Given the description of an element on the screen output the (x, y) to click on. 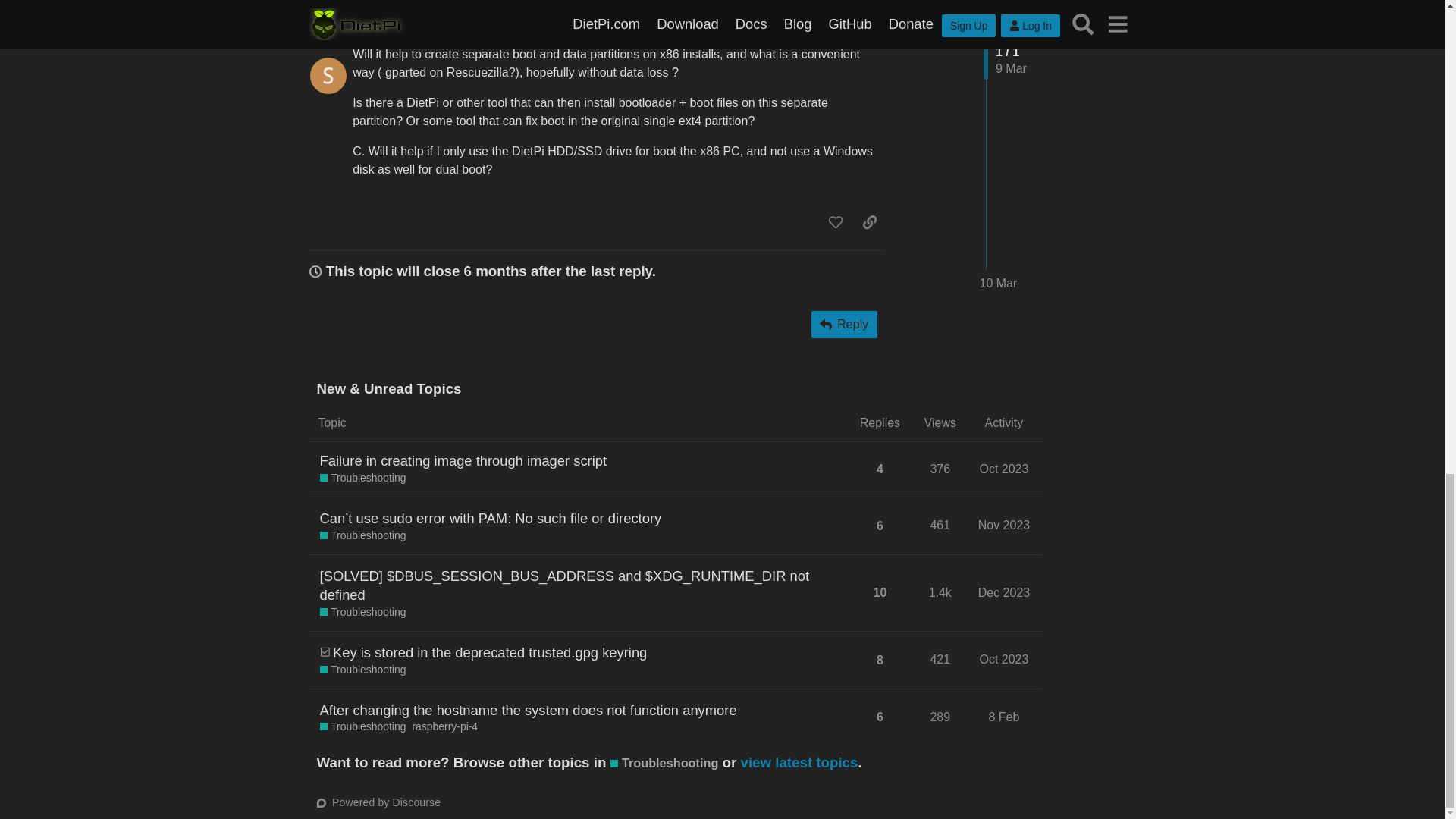
Oct 2023 (1003, 468)
Failure in creating image through imager script (463, 460)
Troubleshooting (363, 478)
Troubleshooting (363, 612)
like this post (835, 222)
Troubleshooting (363, 535)
Nov 2023 (1003, 524)
Reply (843, 324)
